Given the description of an element on the screen output the (x, y) to click on. 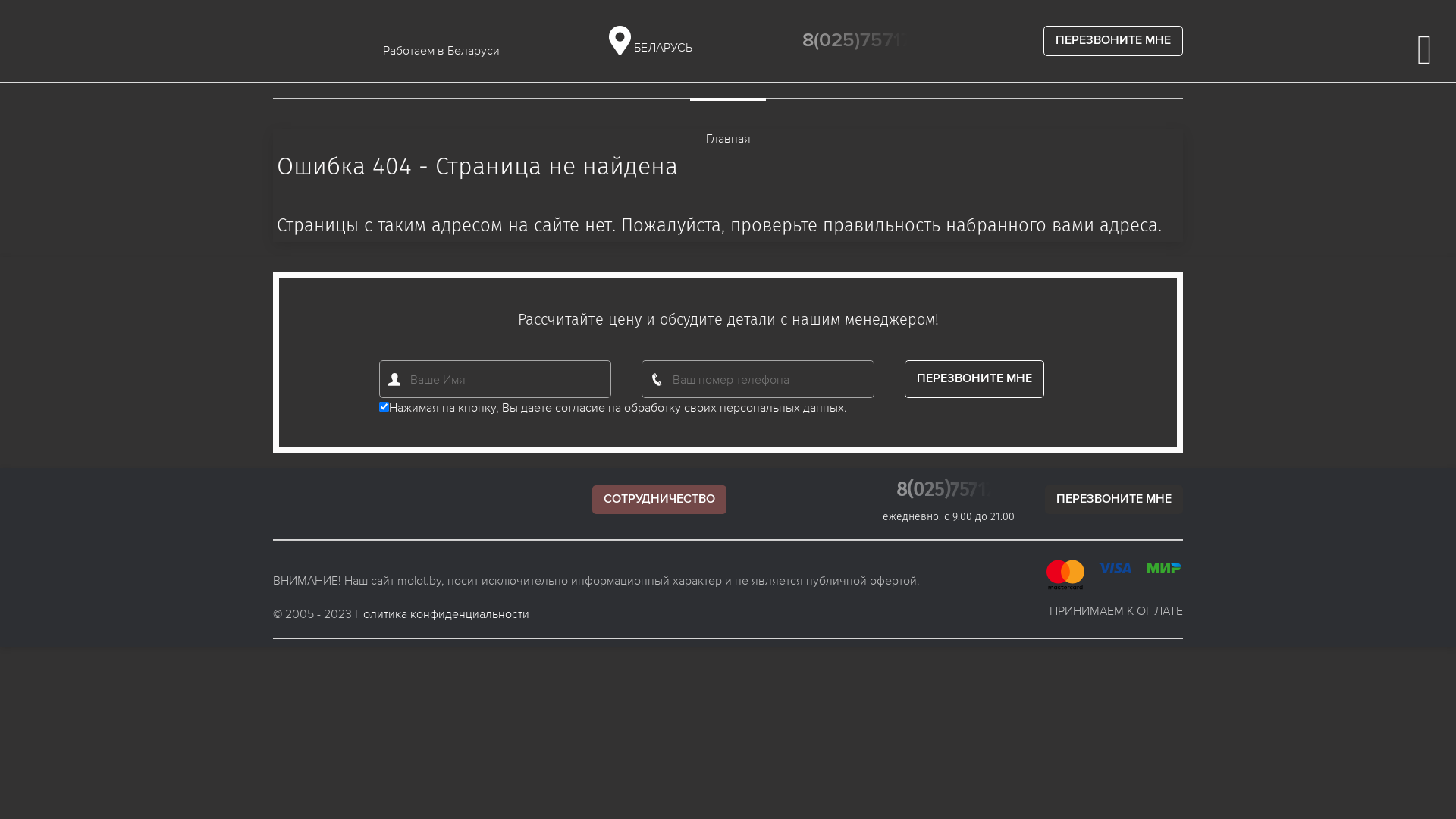
8(025)7571733 Element type: text (955, 489)
8(025)7571733 Element type: text (868, 40)
